Given the description of an element on the screen output the (x, y) to click on. 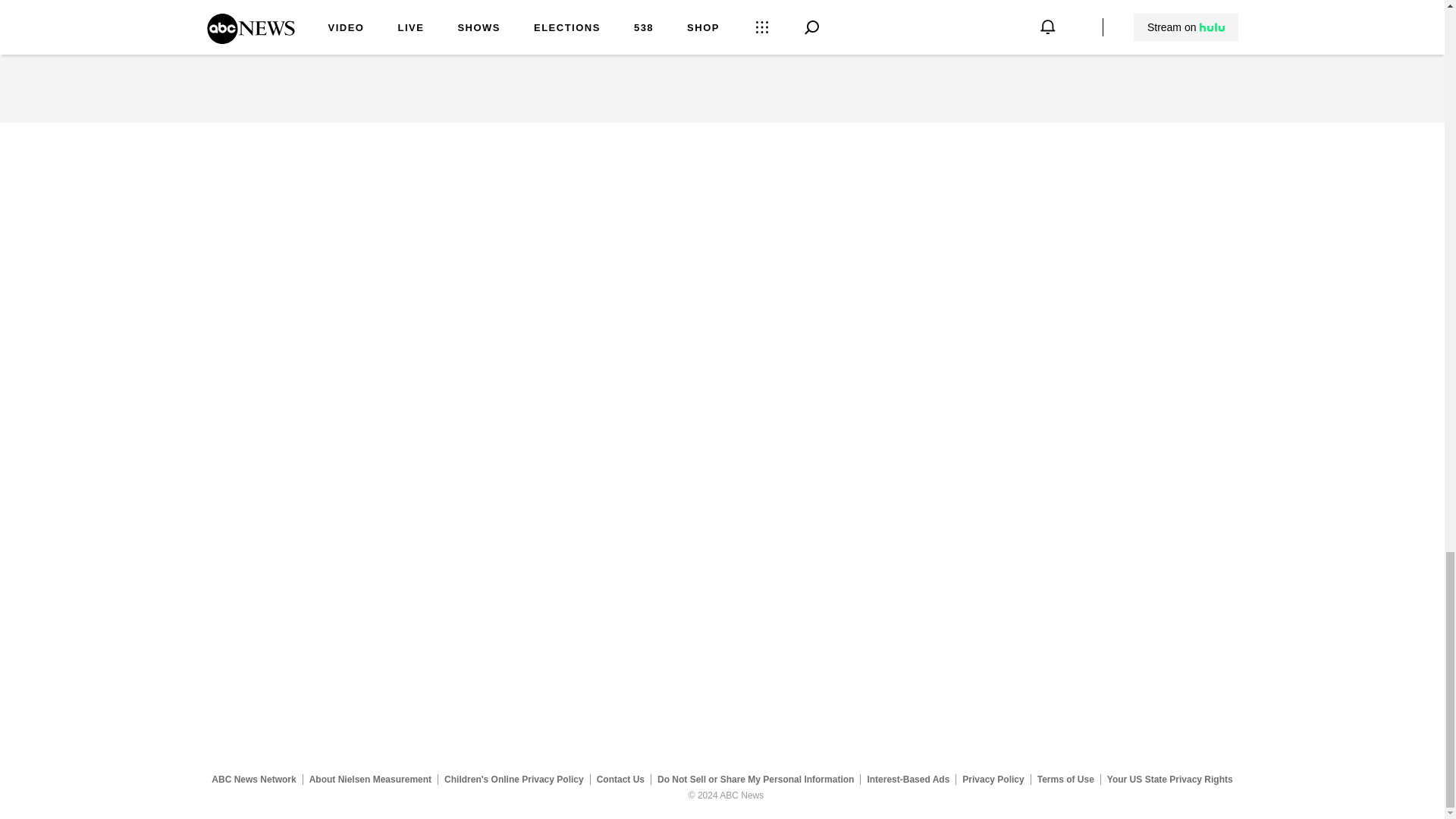
Privacy Policy (993, 778)
About Nielsen Measurement (370, 778)
Interest-Based Ads (908, 778)
Contact Us (620, 778)
Your US State Privacy Rights (1169, 778)
Children's Online Privacy Policy (514, 778)
Terms of Use (1065, 778)
ABC News Network (253, 778)
Do Not Sell or Share My Personal Information (755, 778)
